Given the description of an element on the screen output the (x, y) to click on. 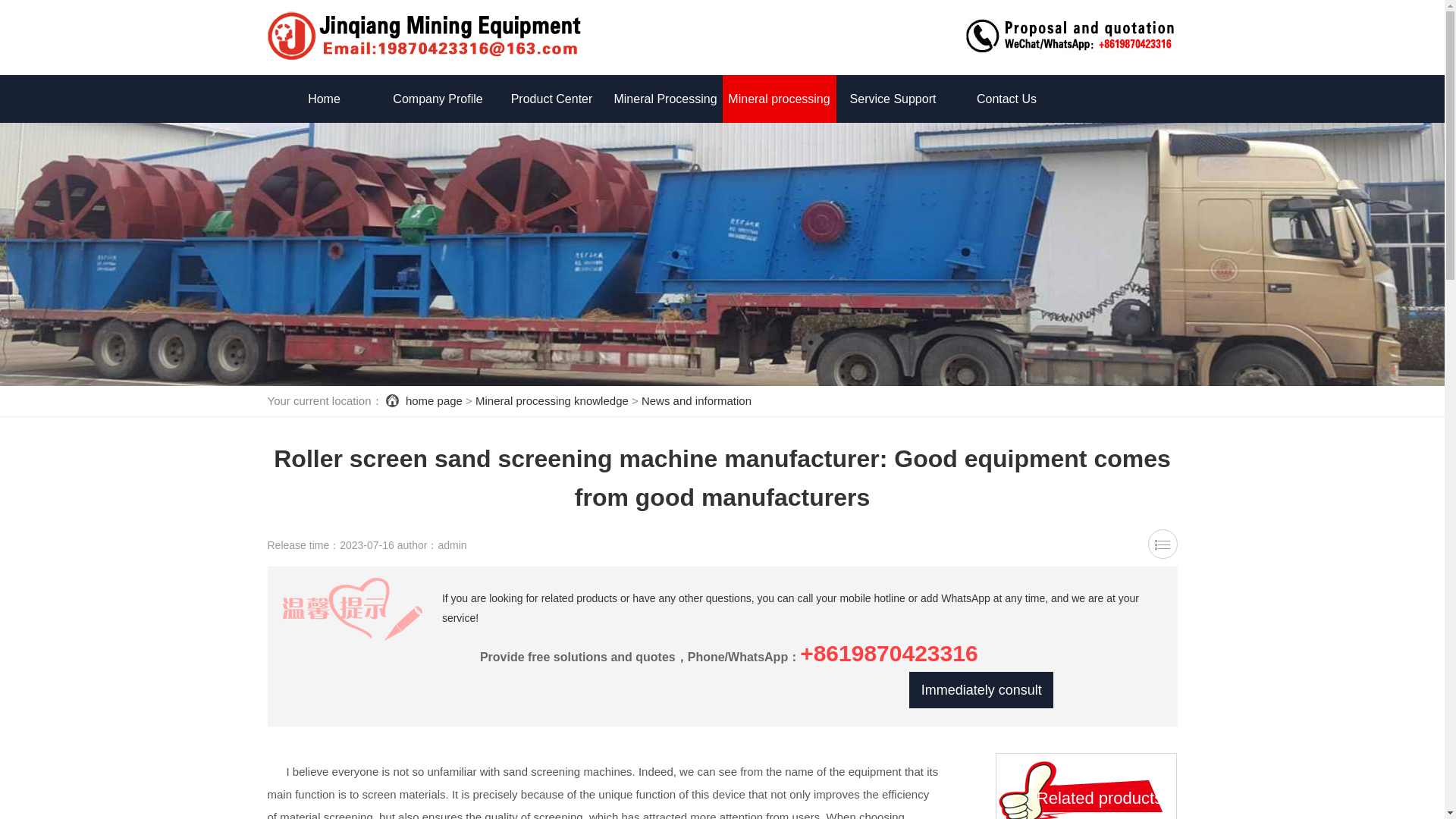
Product Center (551, 98)
Contact Us (1005, 98)
Company Profile (437, 98)
Mineral processing knowledge (778, 122)
News list (1162, 543)
Mineral Processing (665, 98)
Service Support (892, 98)
News and information (696, 400)
Mineral processing knowledge (552, 400)
home page (434, 400)
Immediately consult (980, 689)
Home (323, 98)
